Given the description of an element on the screen output the (x, y) to click on. 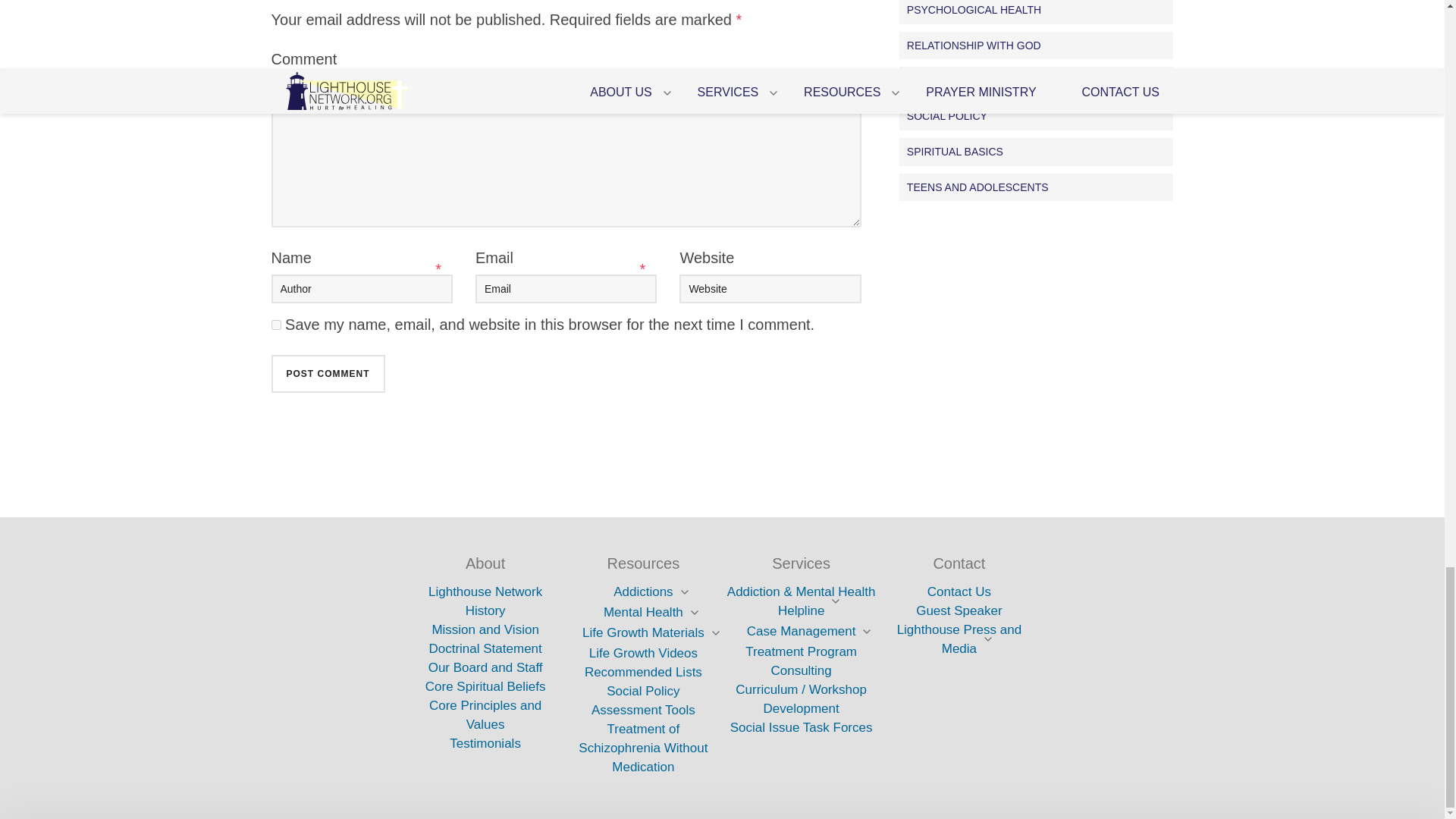
Post comment (327, 373)
yes (275, 325)
